Given the description of an element on the screen output the (x, y) to click on. 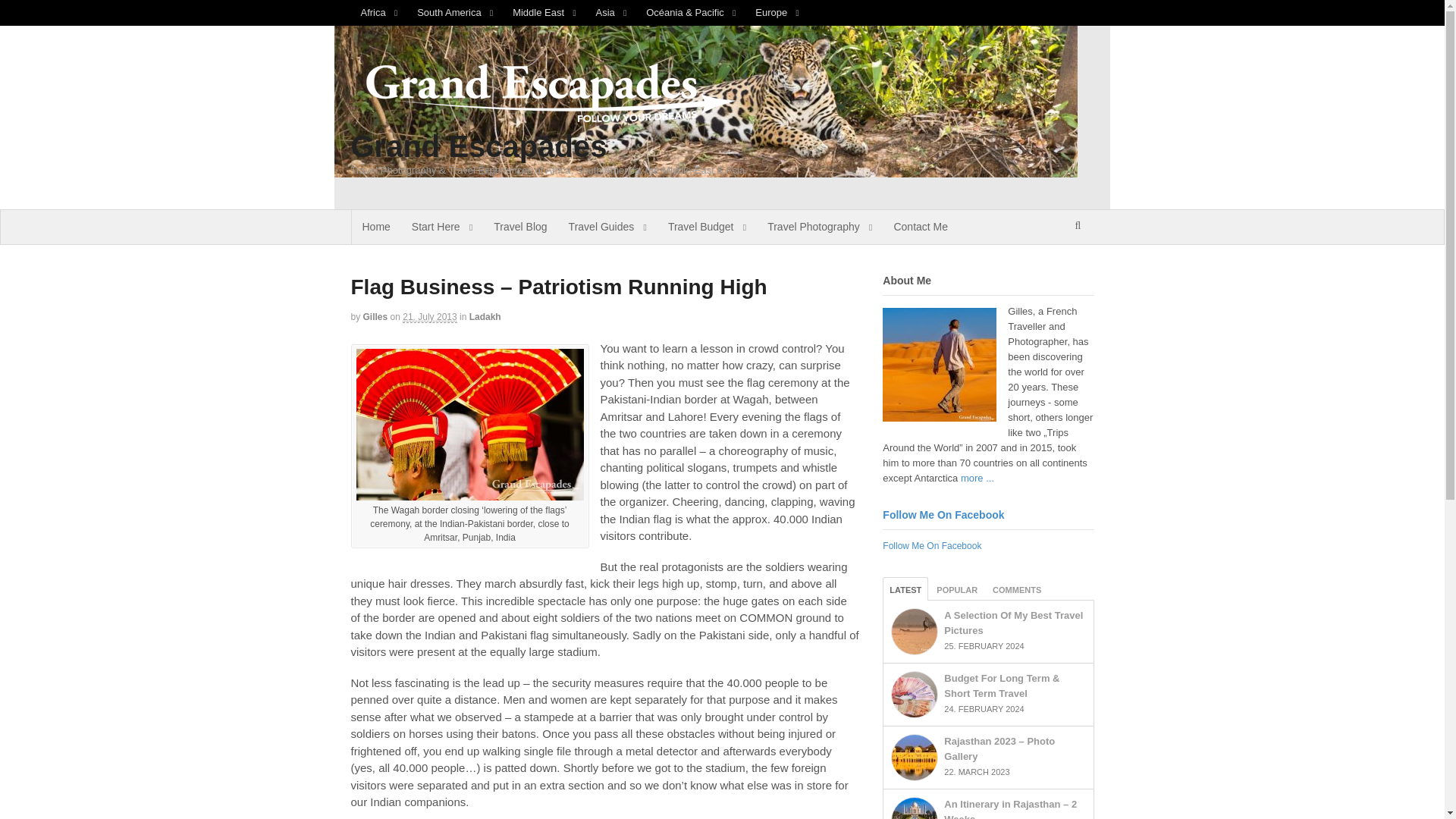
South America (454, 12)
Middle East (543, 12)
Middle East (543, 12)
Posts by Gilles (375, 317)
Asia (611, 12)
Africa (378, 12)
Europe (776, 12)
South America (454, 12)
Africa (378, 12)
Asia (611, 12)
View all items in Ladakh (484, 317)
